Given the description of an element on the screen output the (x, y) to click on. 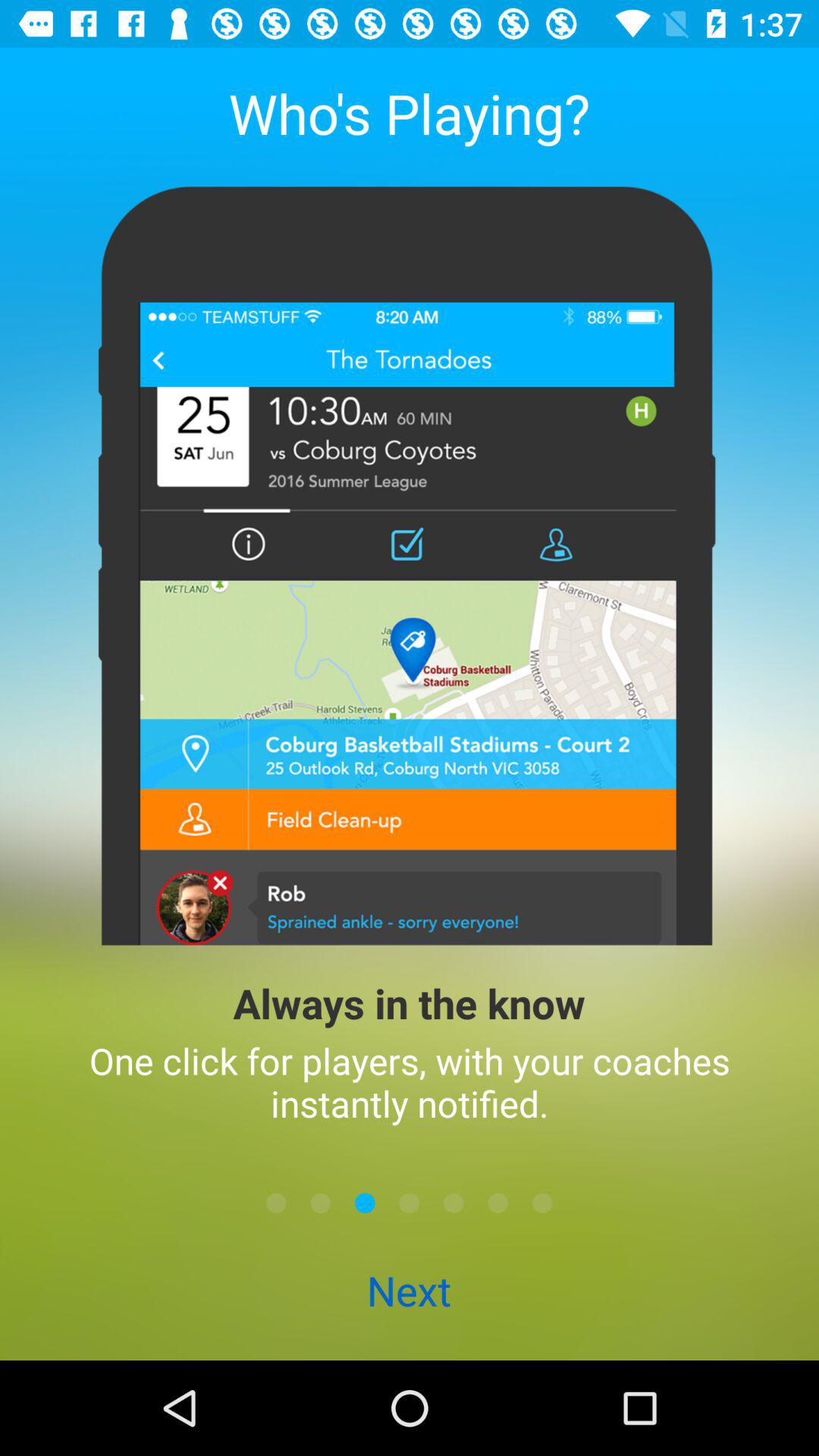
select the icon below the one click for item (276, 1203)
